Given the description of an element on the screen output the (x, y) to click on. 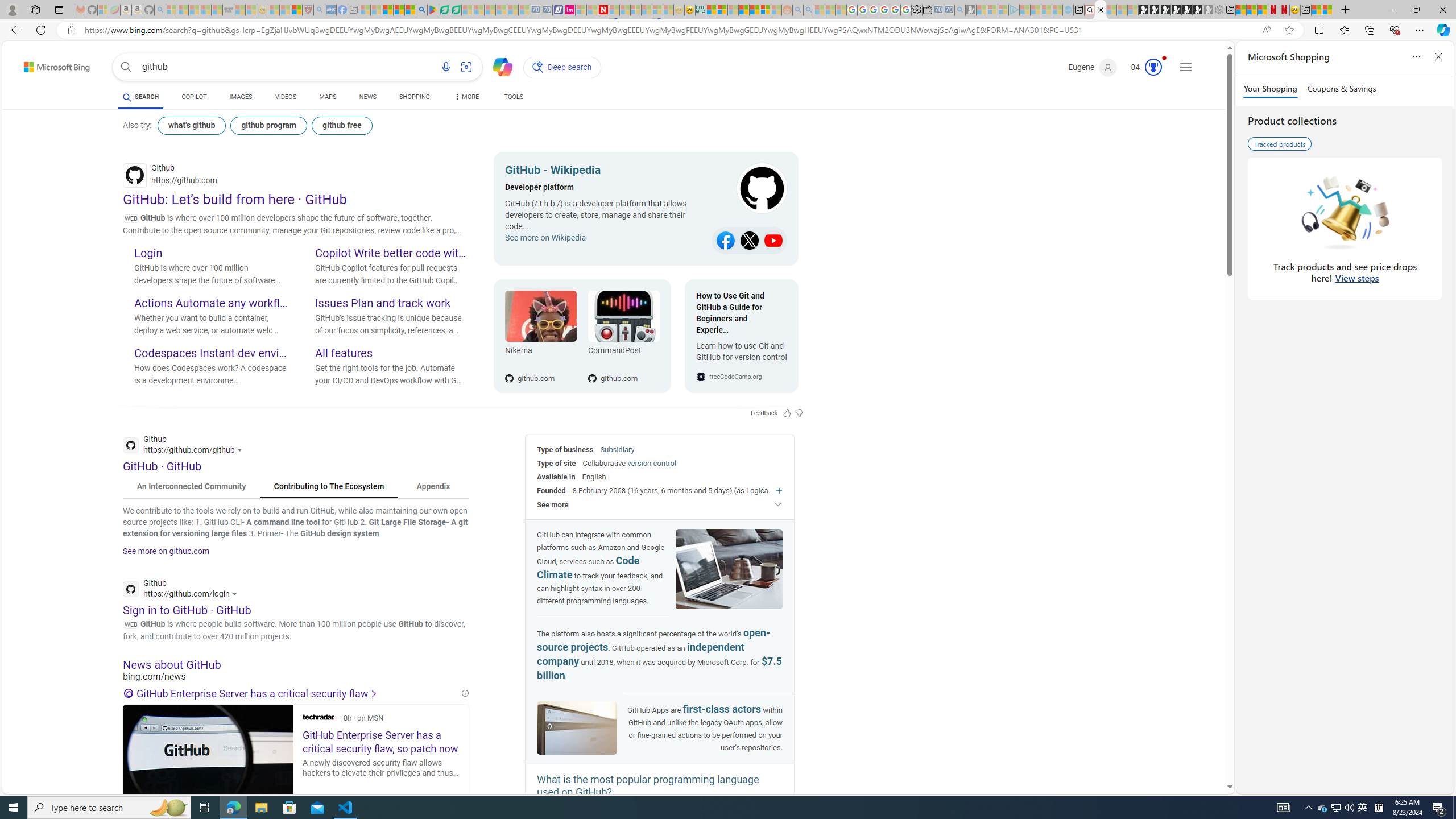
Settings and quick links (1185, 67)
TOOLS (512, 98)
SEARCH (140, 96)
Microsoft Rewards 84 (1142, 67)
COPILOT (193, 98)
github.com (623, 359)
